Given the description of an element on the screen output the (x, y) to click on. 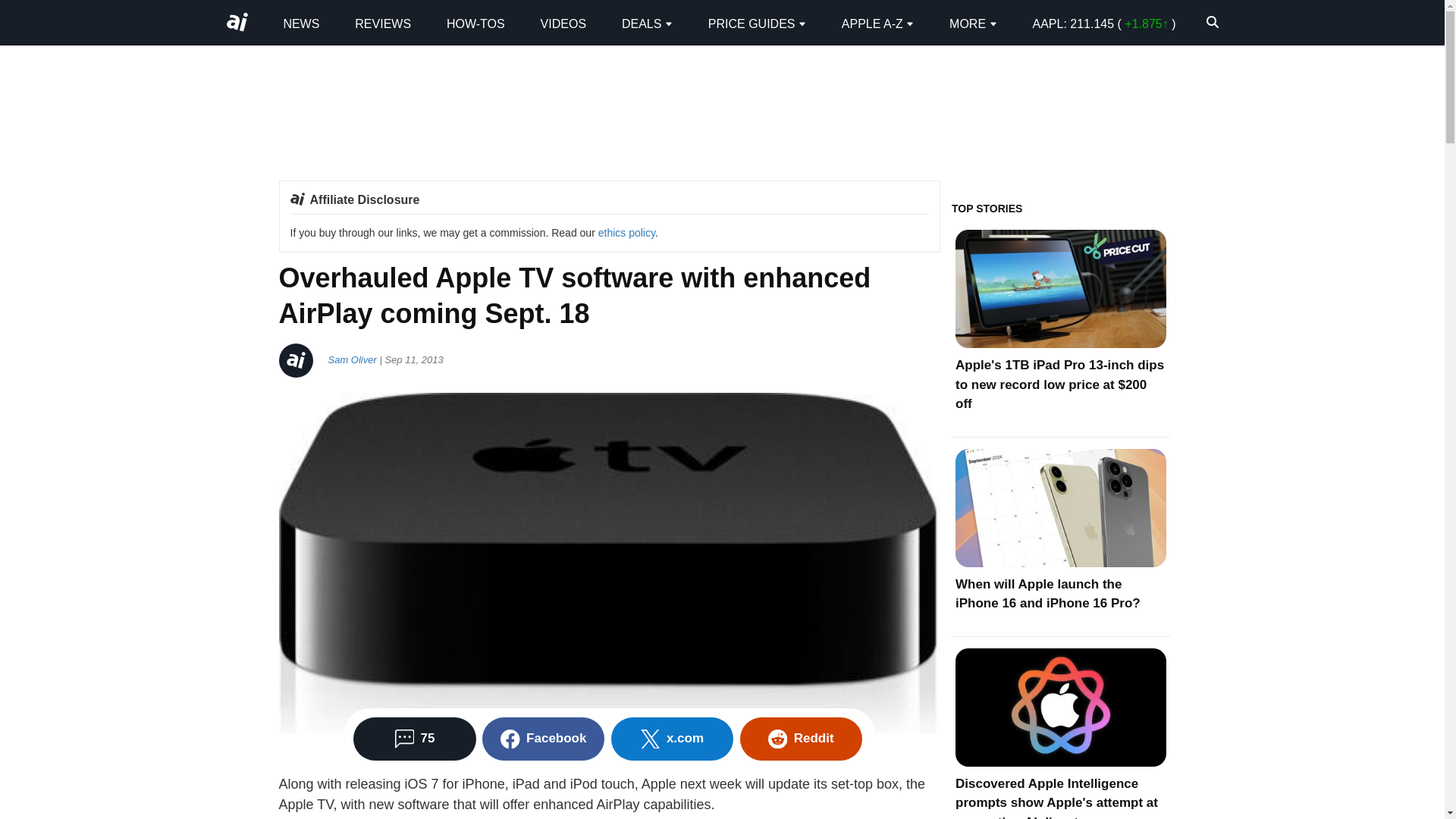
NEWS (300, 23)
Reviews (382, 23)
How-Tos (475, 23)
HOW-TOS (475, 23)
News (300, 23)
REVIEWS (382, 23)
Videos (563, 23)
VIDEOS (563, 23)
